Given the description of an element on the screen output the (x, y) to click on. 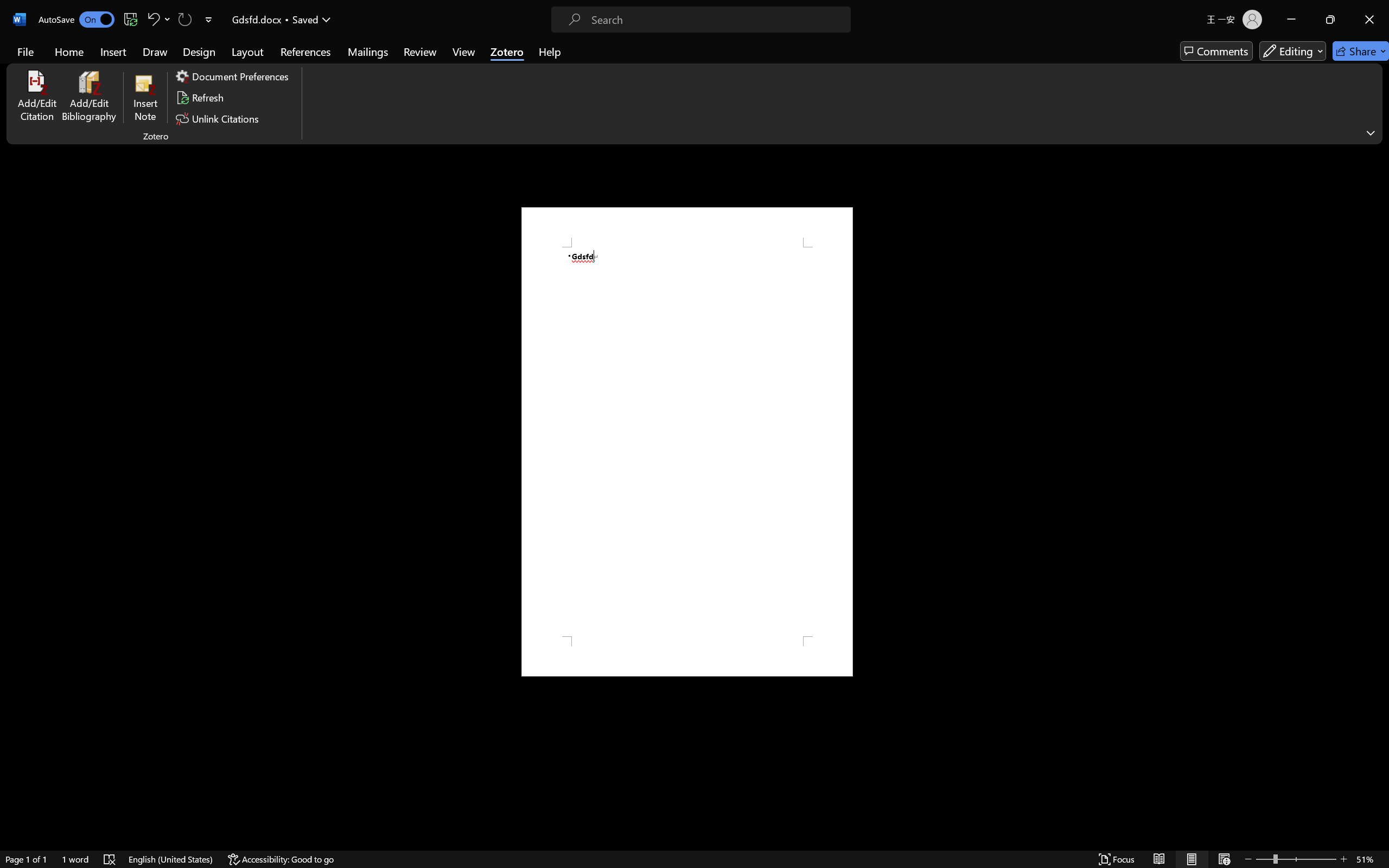
Page 1 content (686, 441)
